Given the description of an element on the screen output the (x, y) to click on. 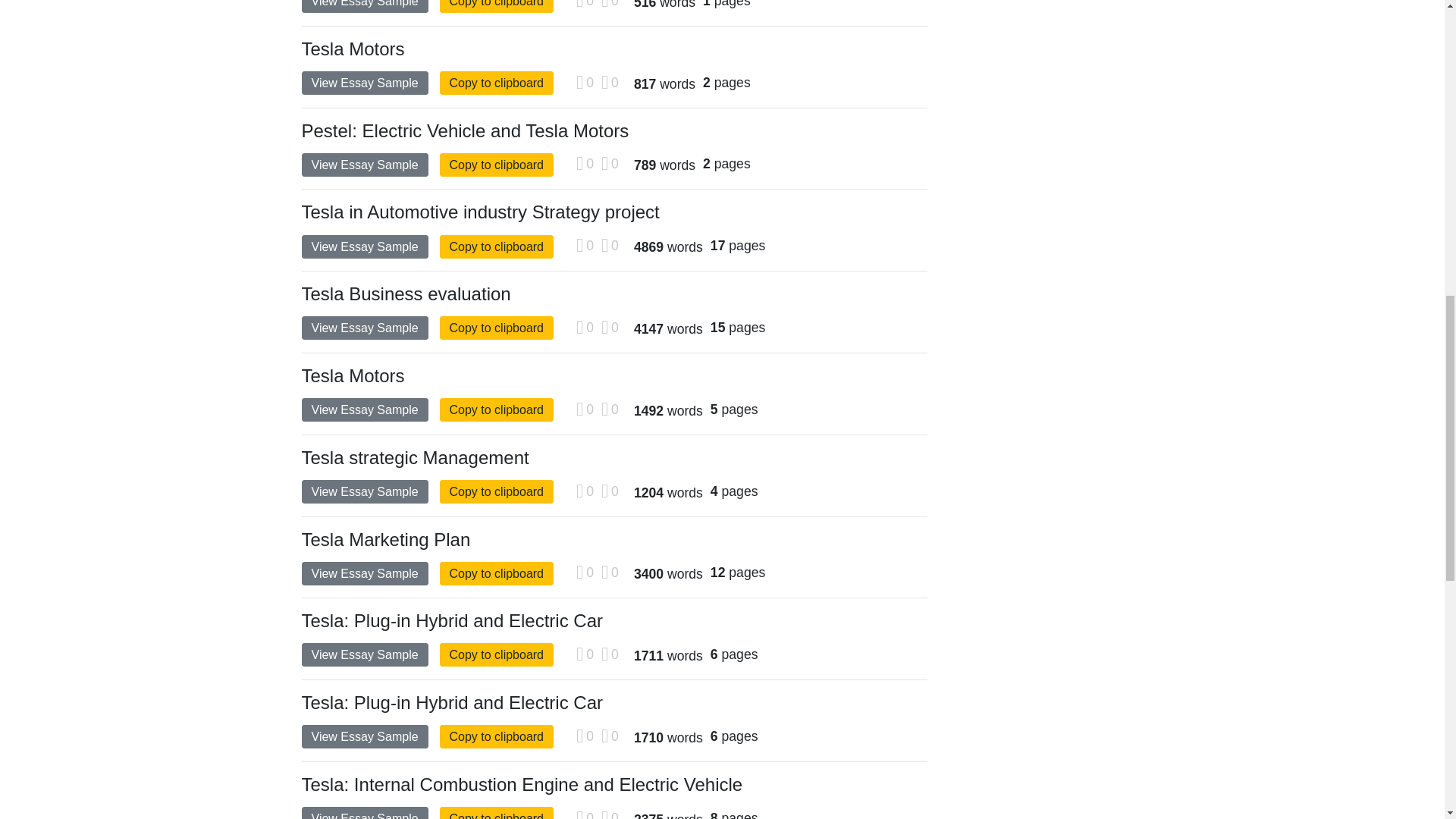
Copy to clipboard (496, 409)
View Essay Sample (364, 812)
View Essay Sample (364, 654)
Copy to clipboard (496, 327)
View Essay Sample (364, 491)
Copy to clipboard (496, 573)
Copy to clipboard (496, 6)
Copy to clipboard (496, 83)
View Essay Sample (364, 573)
View Essay Sample (364, 83)
